Given the description of an element on the screen output the (x, y) to click on. 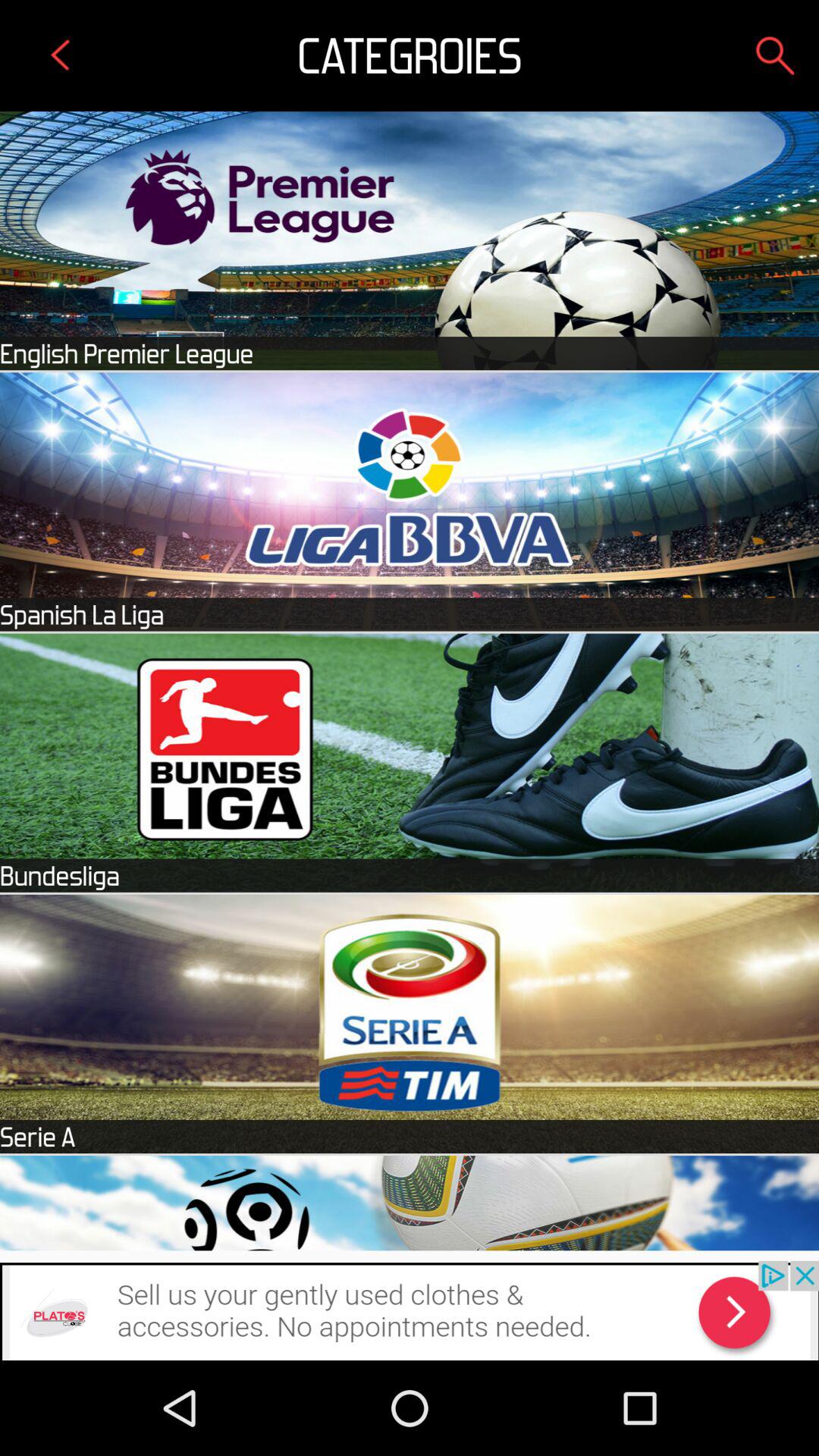
view advertisement (409, 1310)
